Given the description of an element on the screen output the (x, y) to click on. 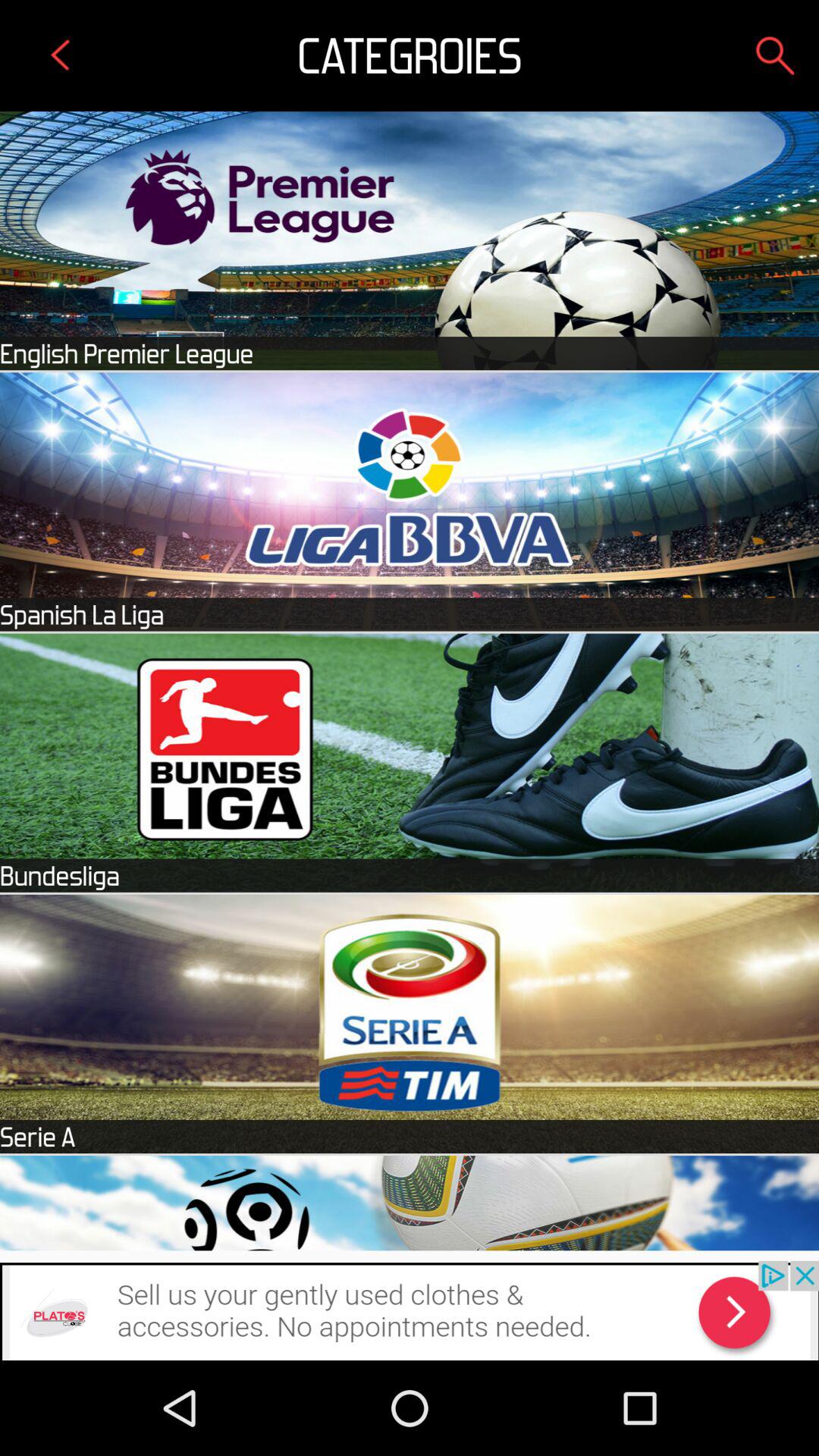
view advertisement (409, 1310)
